Given the description of an element on the screen output the (x, y) to click on. 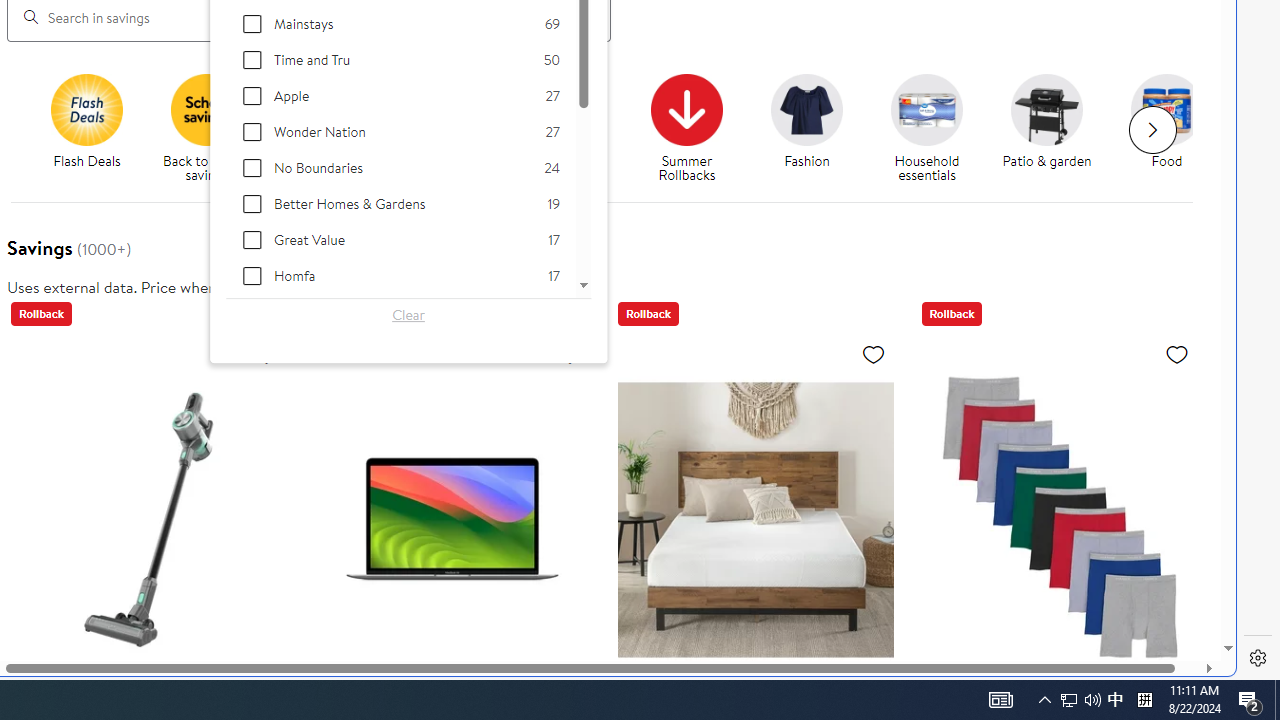
Patio & garden (1046, 109)
Summer Rollbacks (694, 128)
Back to School savings Back to school savings (206, 128)
Zinus Spa Sensations Serenity 8" Memory Foam Mattress, Full (755, 519)
Household essentials Household essentials (927, 128)
Fashion (815, 128)
Food (1167, 109)
$20 and under (446, 109)
Patio & garden (1054, 128)
Food Food (1166, 122)
Flash deals Flash Deals (86, 122)
